Given the description of an element on the screen output the (x, y) to click on. 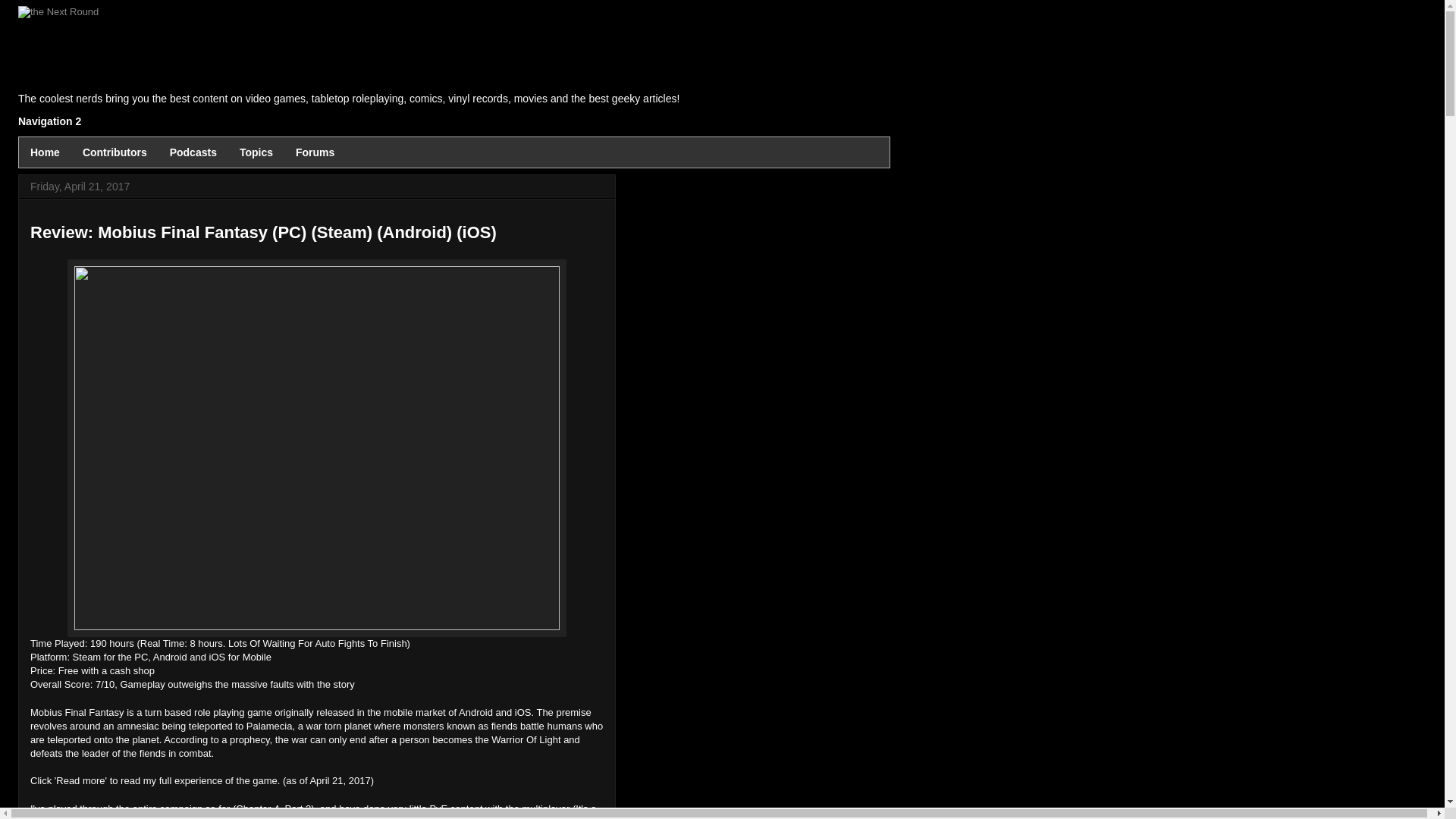
Home (44, 152)
Podcasts (193, 152)
Contributors (114, 152)
Forums (314, 152)
Topics (255, 152)
